Given the description of an element on the screen output the (x, y) to click on. 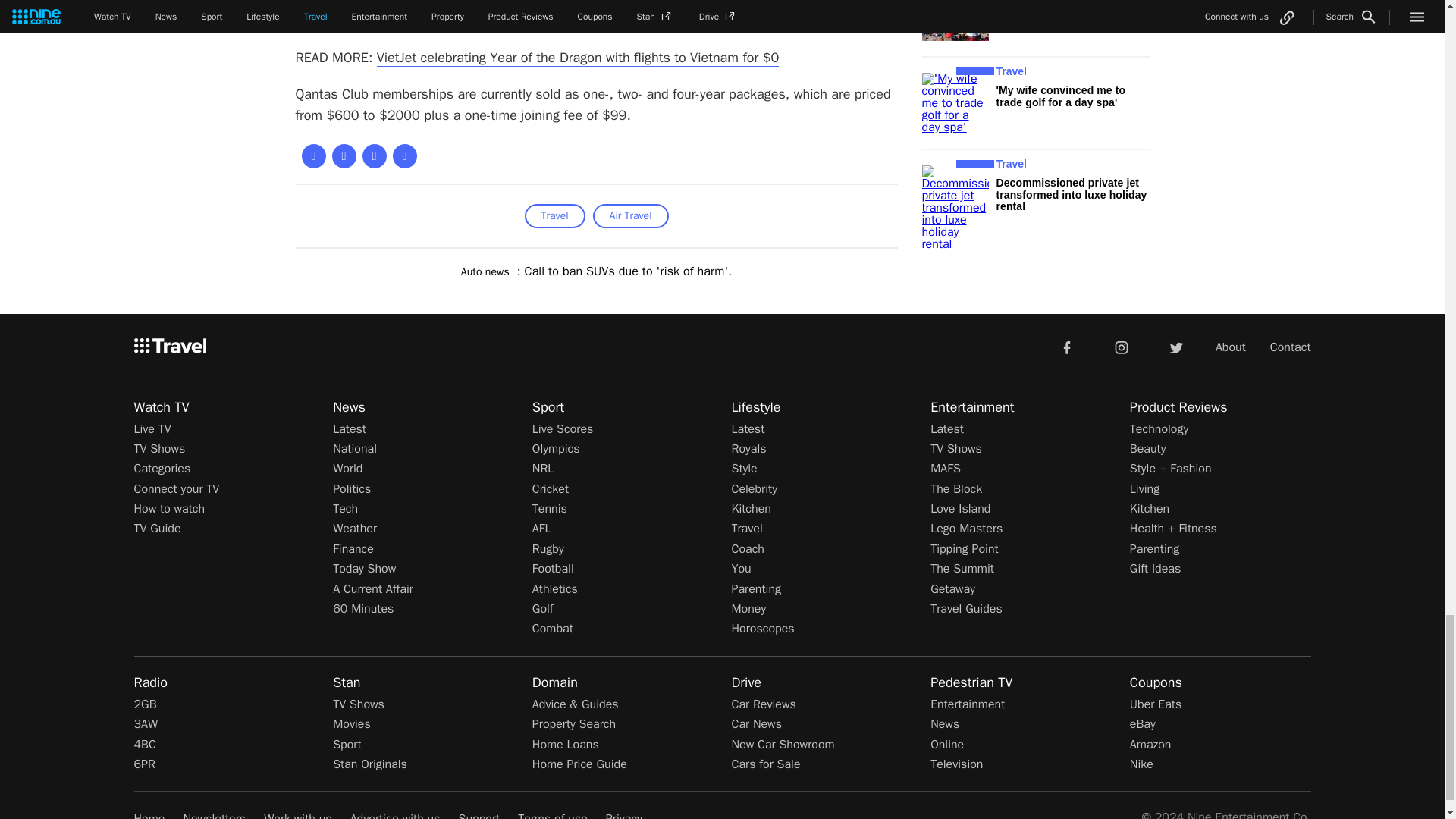
instagram (1121, 346)
facebook (1066, 346)
twitter (1175, 346)
